Given the description of an element on the screen output the (x, y) to click on. 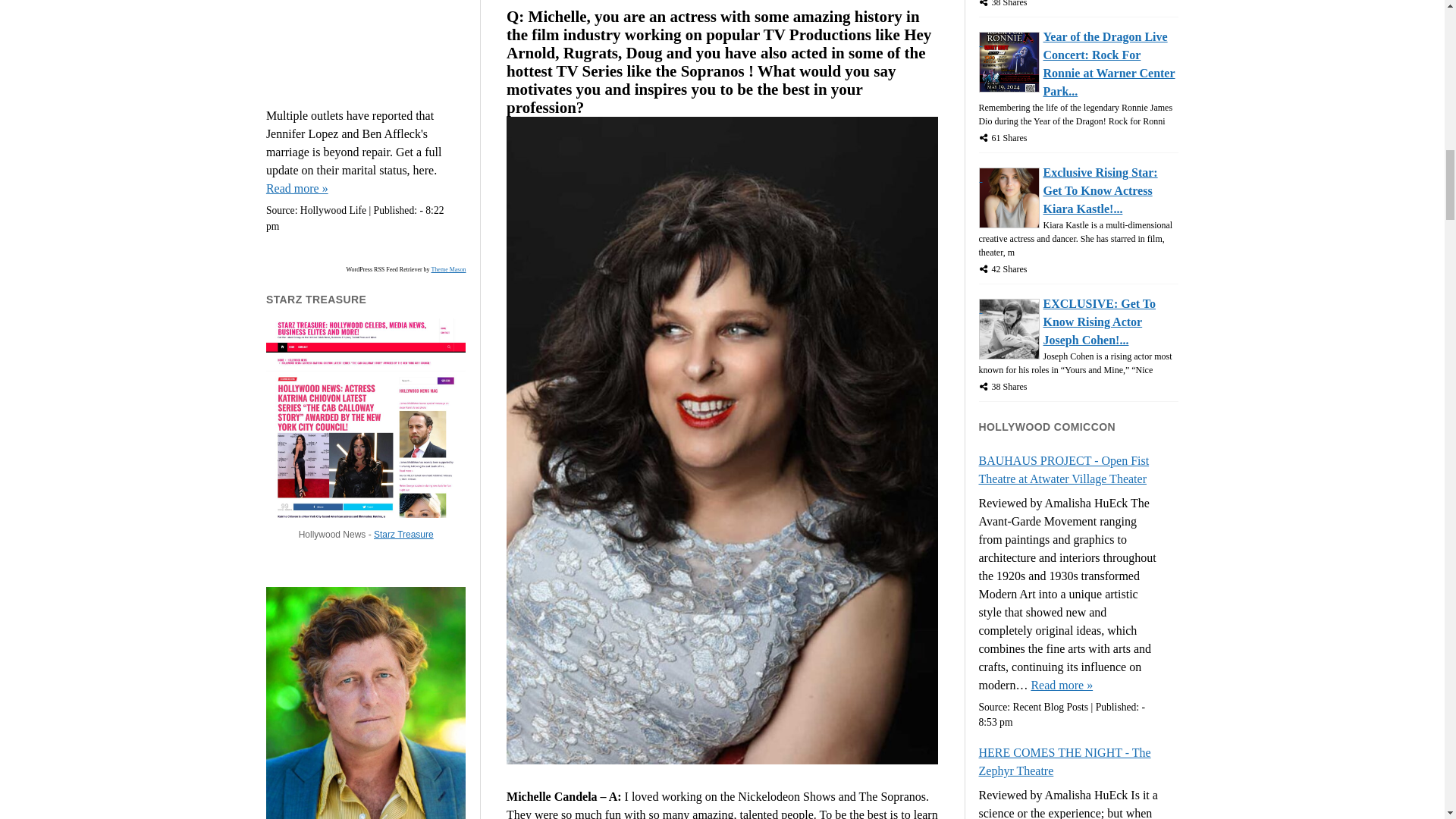
Starz Treasure (403, 534)
Theme Mason (447, 269)
Theme Mason (447, 269)
